Given the description of an element on the screen output the (x, y) to click on. 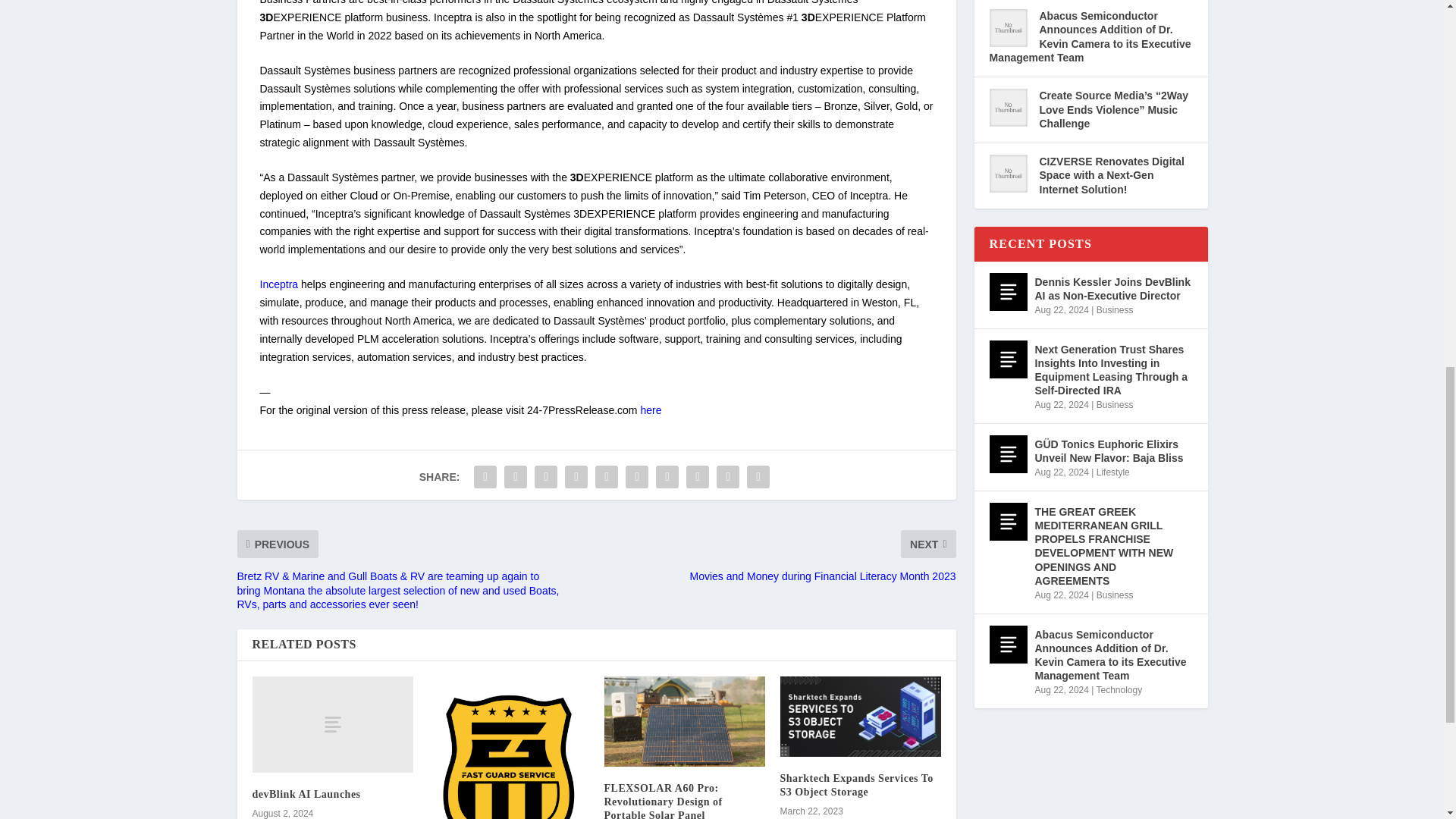
Sharktech Expands Services To S3 Object Storage (859, 716)
Inceptra (278, 284)
devBlink AI Launches (331, 724)
devBlink AI Launches (305, 794)
here (650, 410)
